Given the description of an element on the screen output the (x, y) to click on. 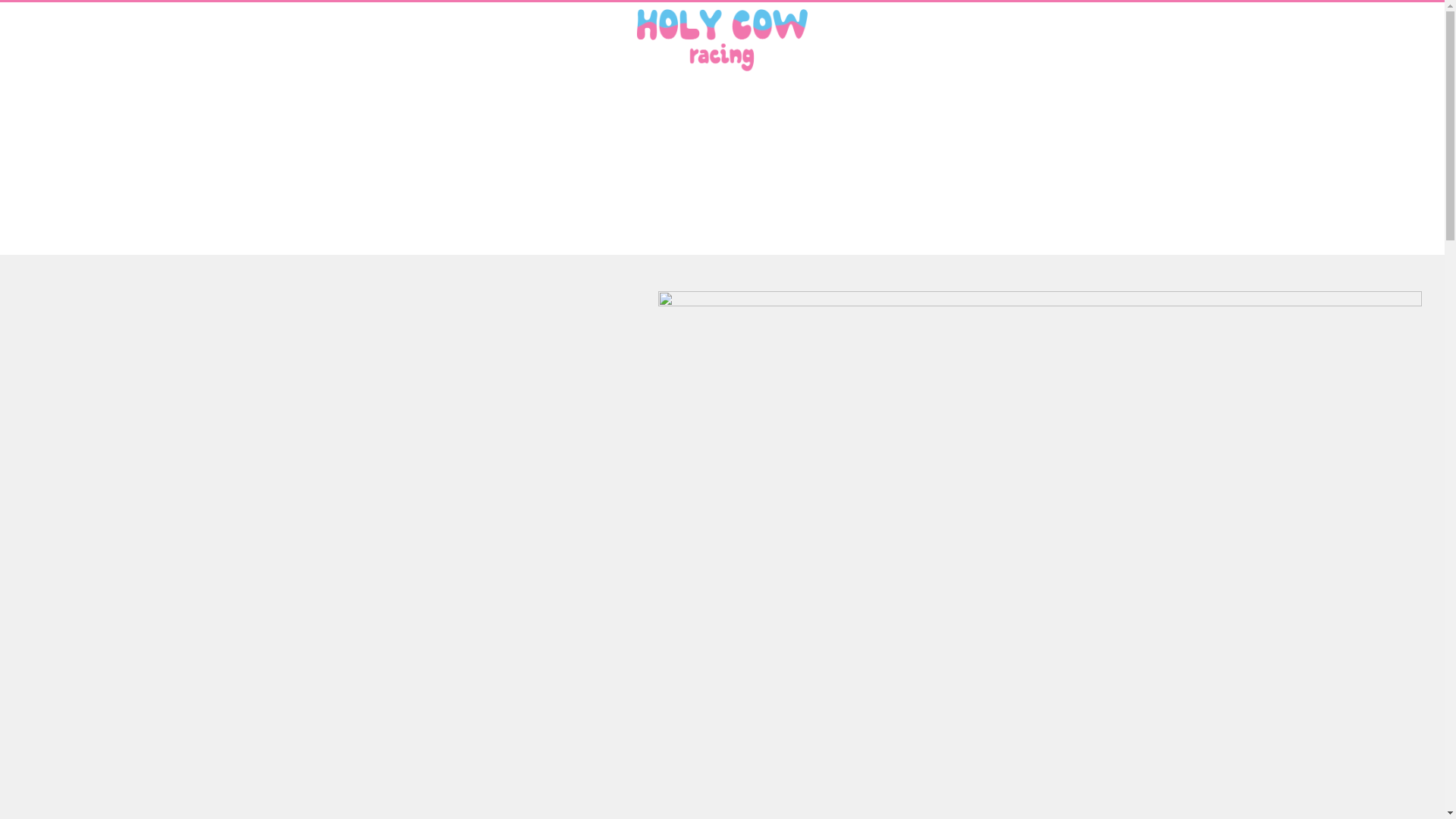
STAMPEDES (234, 40)
CARBS FUEL (362, 40)
SHOP (298, 40)
LOG IN (1340, 40)
HOLY COW?! (63, 40)
THE HERD (152, 40)
